Given the description of an element on the screen output the (x, y) to click on. 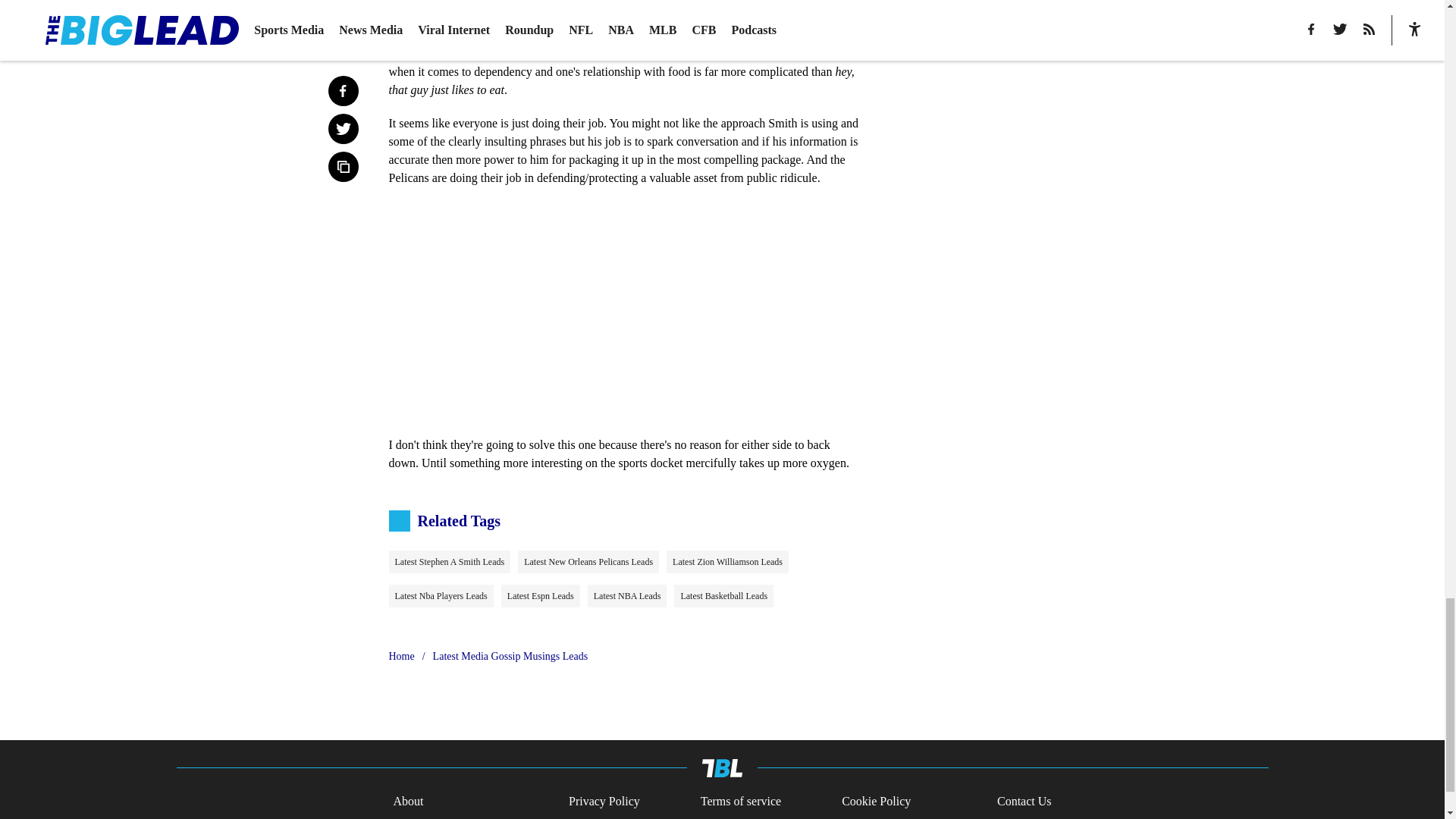
Latest Espn Leads (539, 595)
Home (400, 656)
Latest New Orleans Pelicans Leads (588, 561)
Latest Nba Players Leads (440, 595)
Latest Stephen A Smith Leads (449, 561)
Latest Zion Williamson Leads (727, 561)
Latest NBA Leads (627, 595)
Latest Basketball Leads (723, 595)
